Given the description of an element on the screen output the (x, y) to click on. 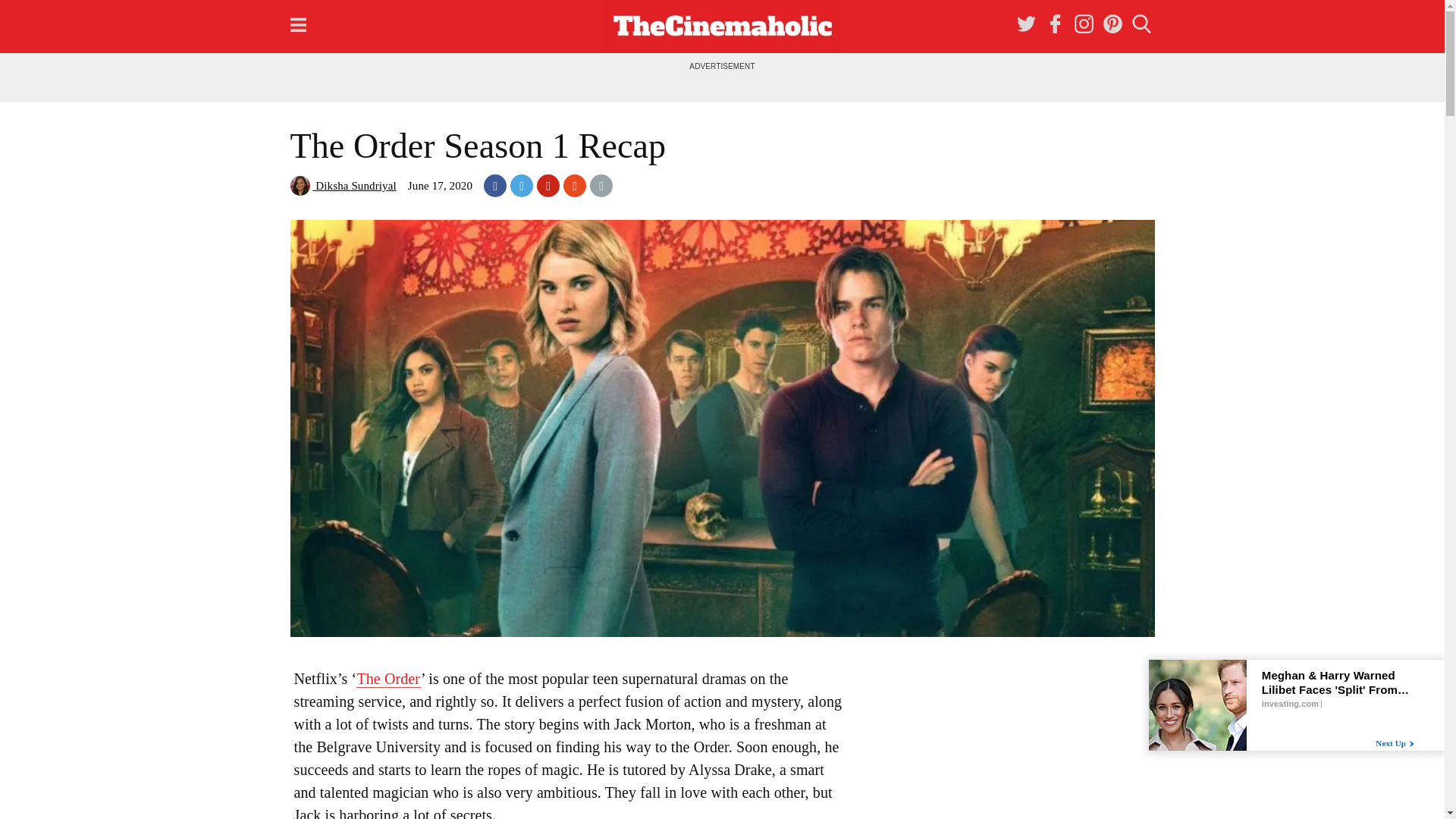
The Order (388, 678)
Diksha Sundriyal (342, 185)
